Given the description of an element on the screen output the (x, y) to click on. 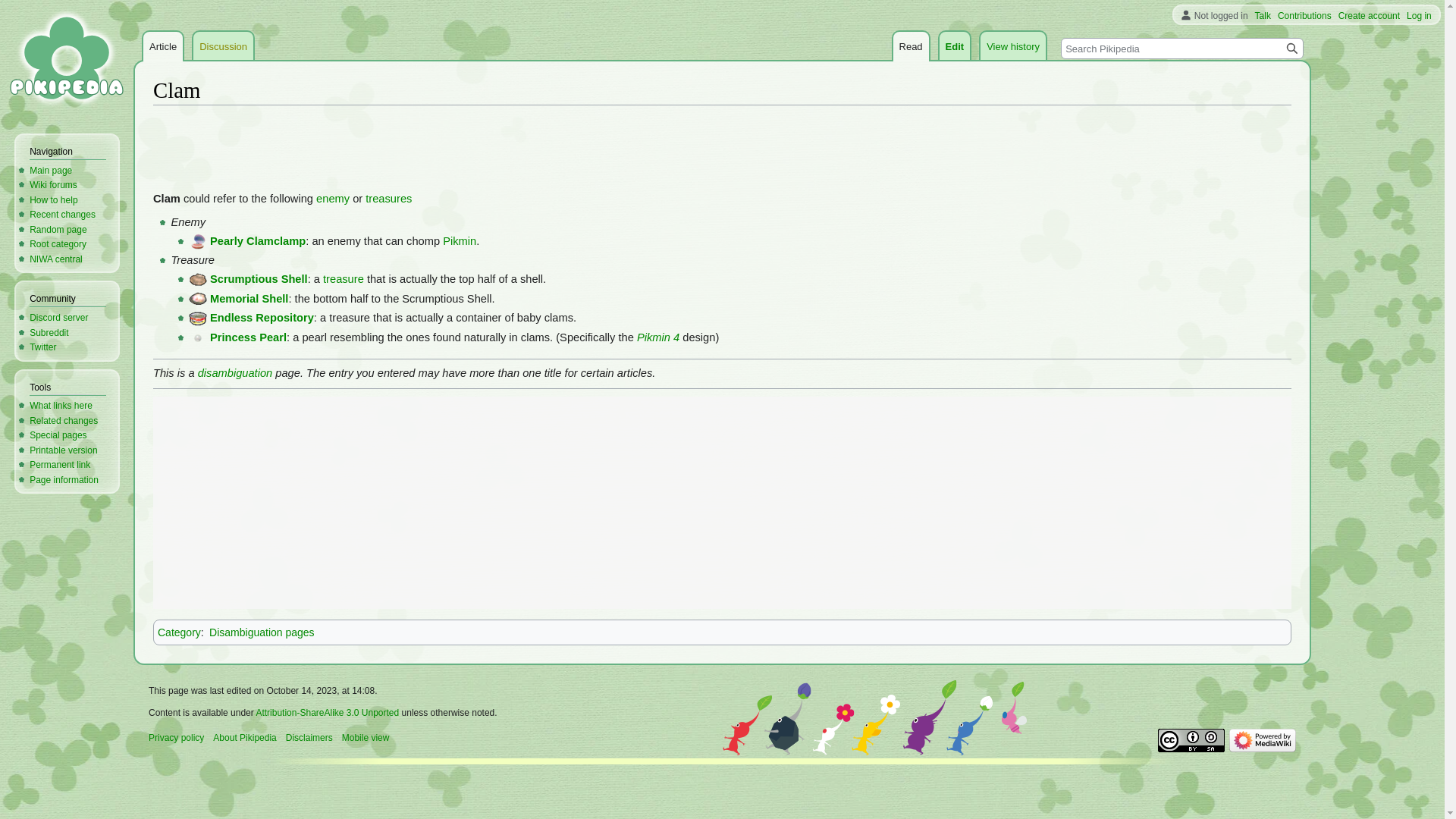
Root category (57, 244)
Princess Pearl (247, 337)
Memorial Shell (197, 298)
treasure (343, 278)
Pearly Clamclamp (257, 241)
Article (162, 46)
disambiguation (235, 372)
Discussion (223, 46)
treasures (388, 198)
Disambiguation pages (261, 632)
Pikmin (459, 241)
Endless Repository (261, 317)
Princess Pearl (247, 337)
Random page (57, 229)
Princess Pearl (197, 337)
